Given the description of an element on the screen output the (x, y) to click on. 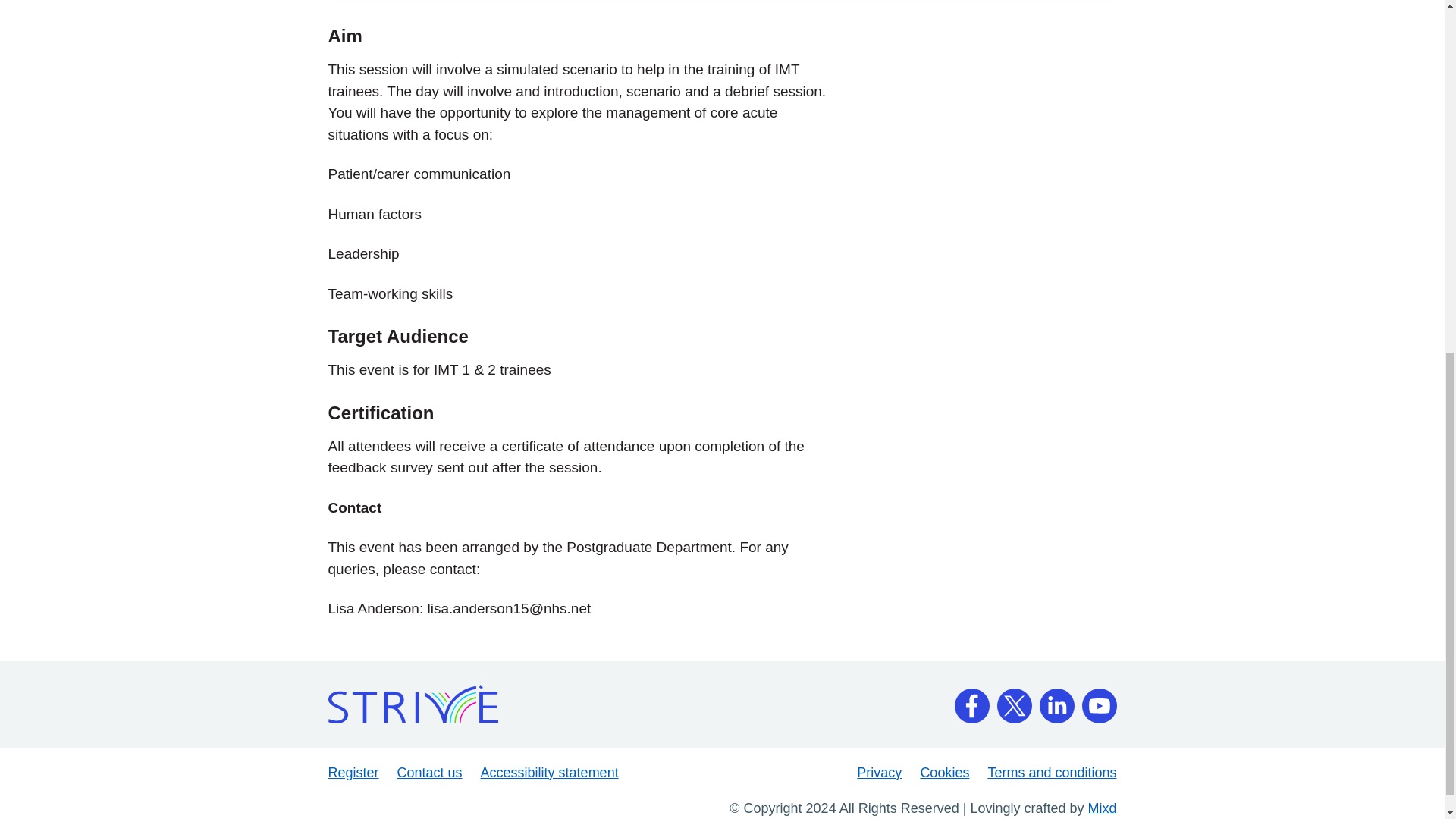
Group 5 (970, 699)
Mixd (1101, 807)
Cookies (944, 772)
Group 7 (1012, 699)
Privacy (879, 772)
Register (352, 772)
Accessibility statement (549, 772)
Contact us (430, 772)
Group 9 (1098, 699)
Terms and conditions (1051, 772)
